Given the description of an element on the screen output the (x, y) to click on. 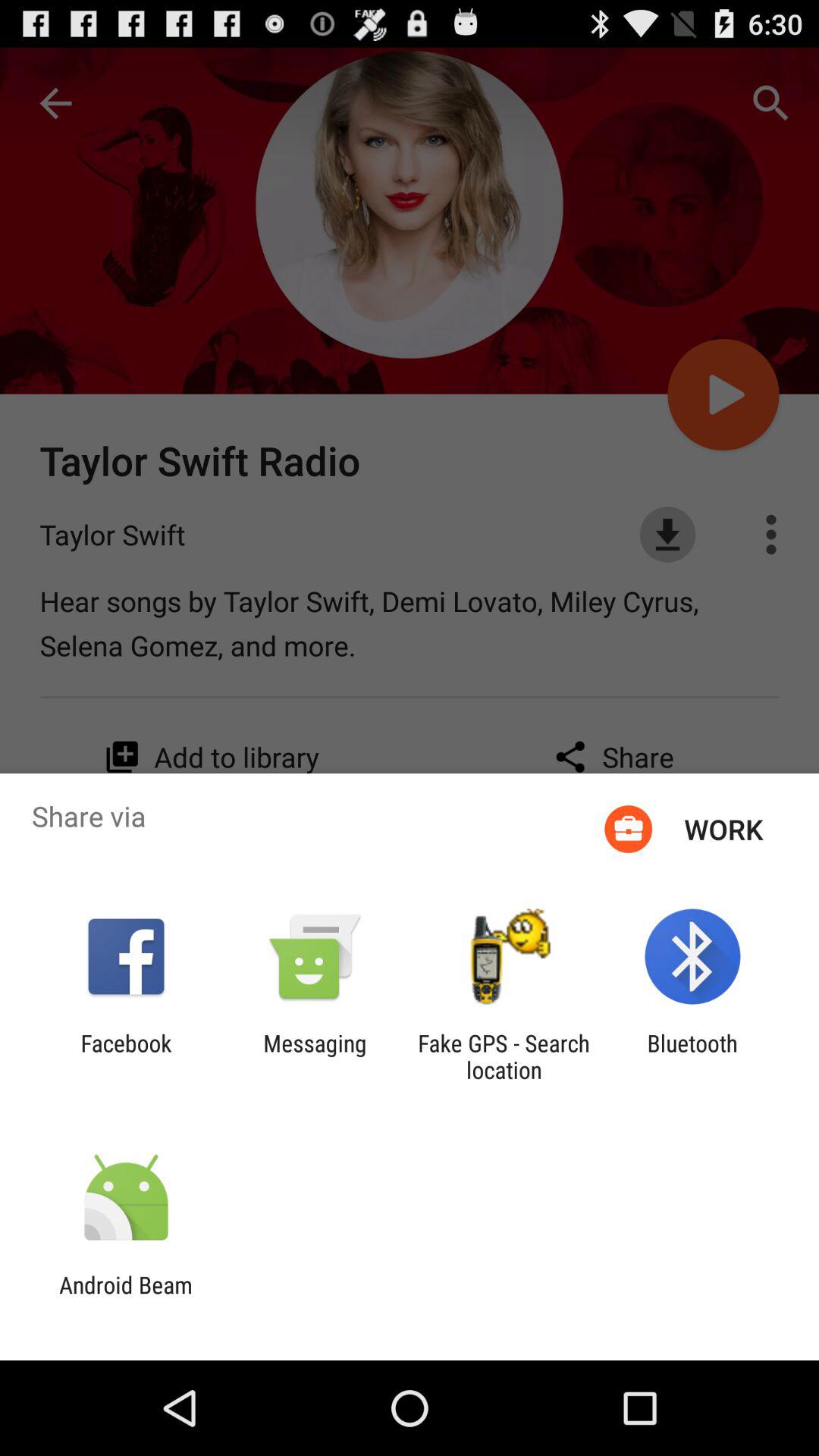
click the icon next to the fake gps search item (314, 1056)
